Given the description of an element on the screen output the (x, y) to click on. 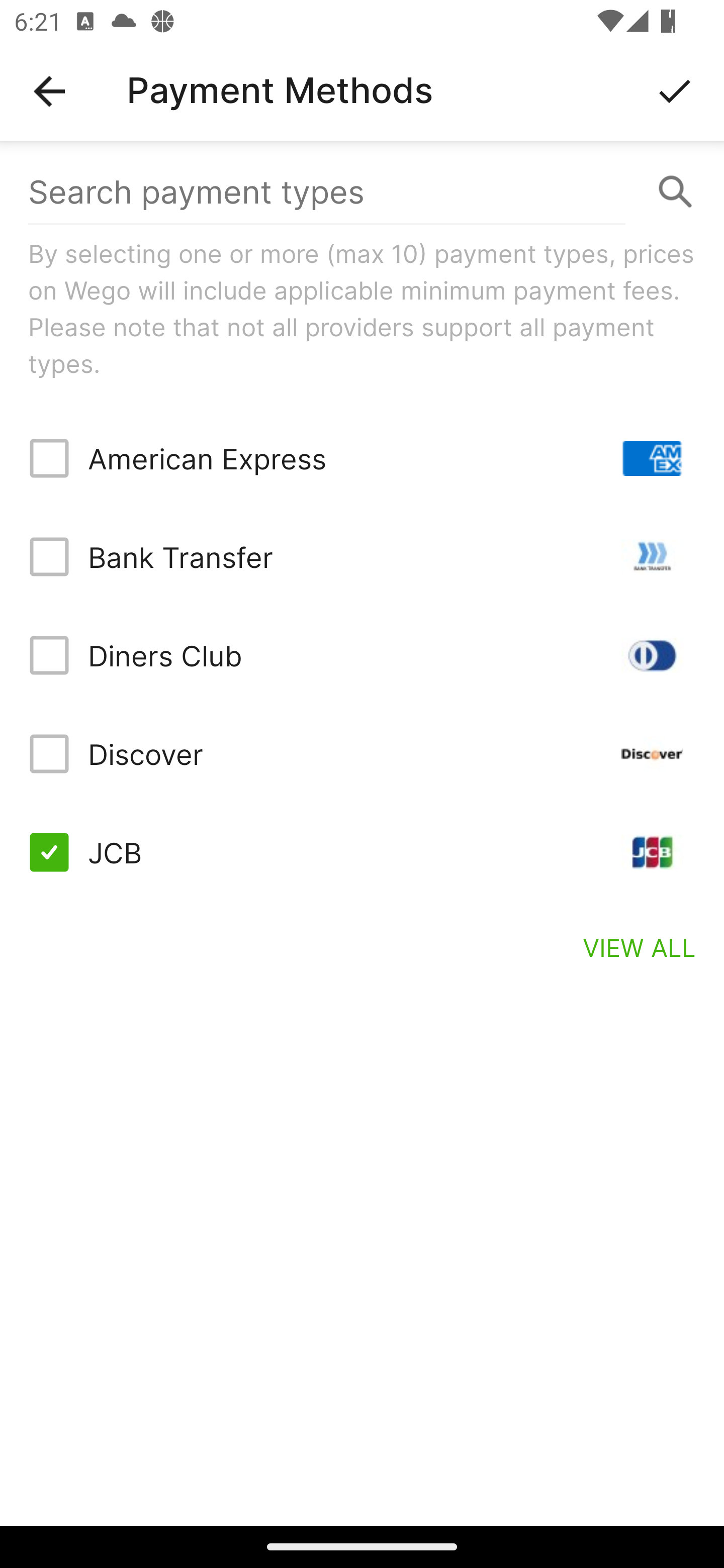
Search payment types  (361, 191)
American Express (362, 458)
Bank Transfer (362, 557)
Diners Club (362, 655)
Discover (362, 753)
JCB (362, 851)
VIEW ALL (639, 946)
